Given the description of an element on the screen output the (x, y) to click on. 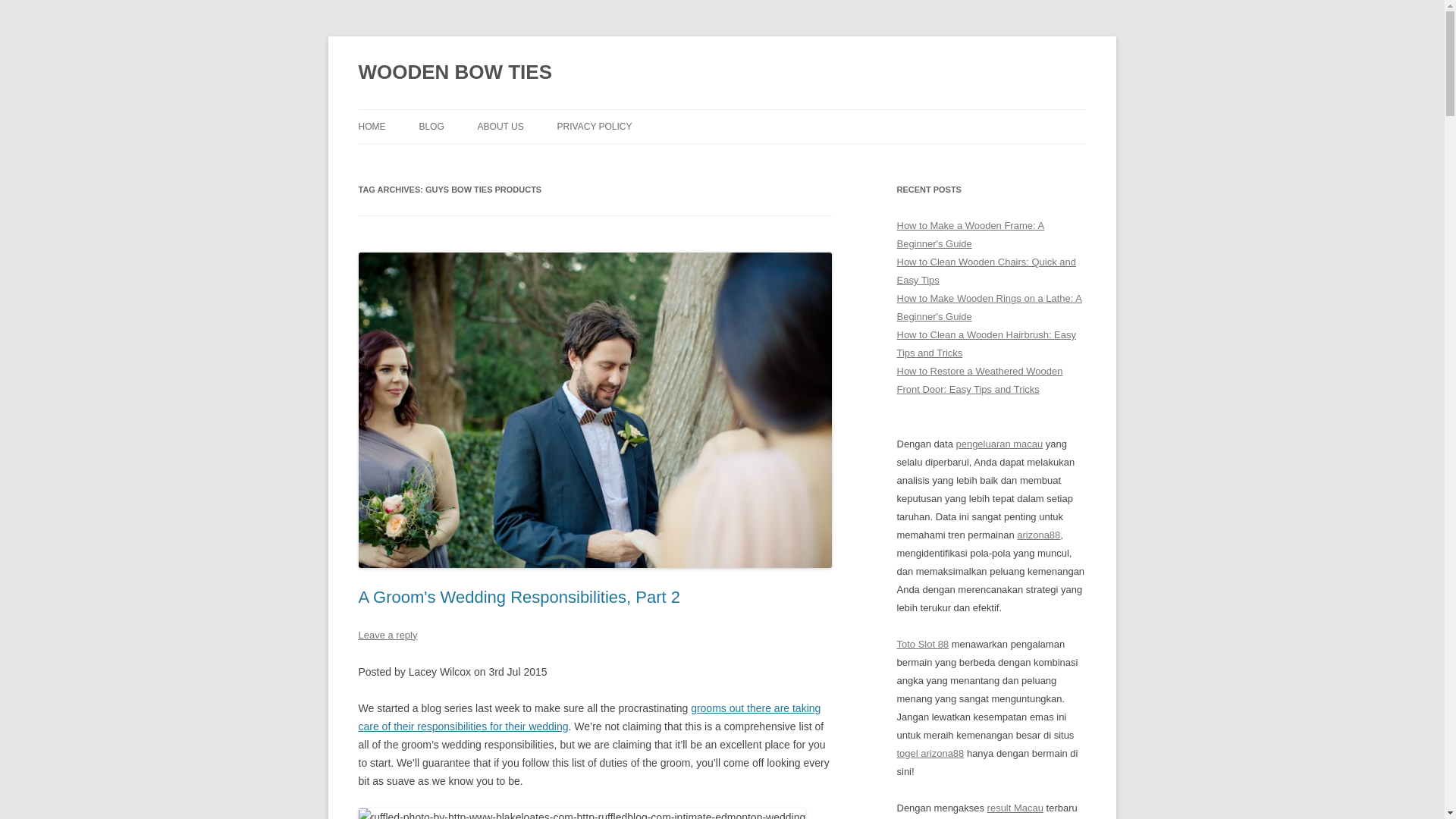
WOODEN BOW TIES (454, 72)
Leave a reply (387, 634)
A Groom's Wedding Responsibilities, Part 2 (518, 597)
ABOUT US (500, 126)
PRIVACY POLICY (594, 126)
